Given the description of an element on the screen output the (x, y) to click on. 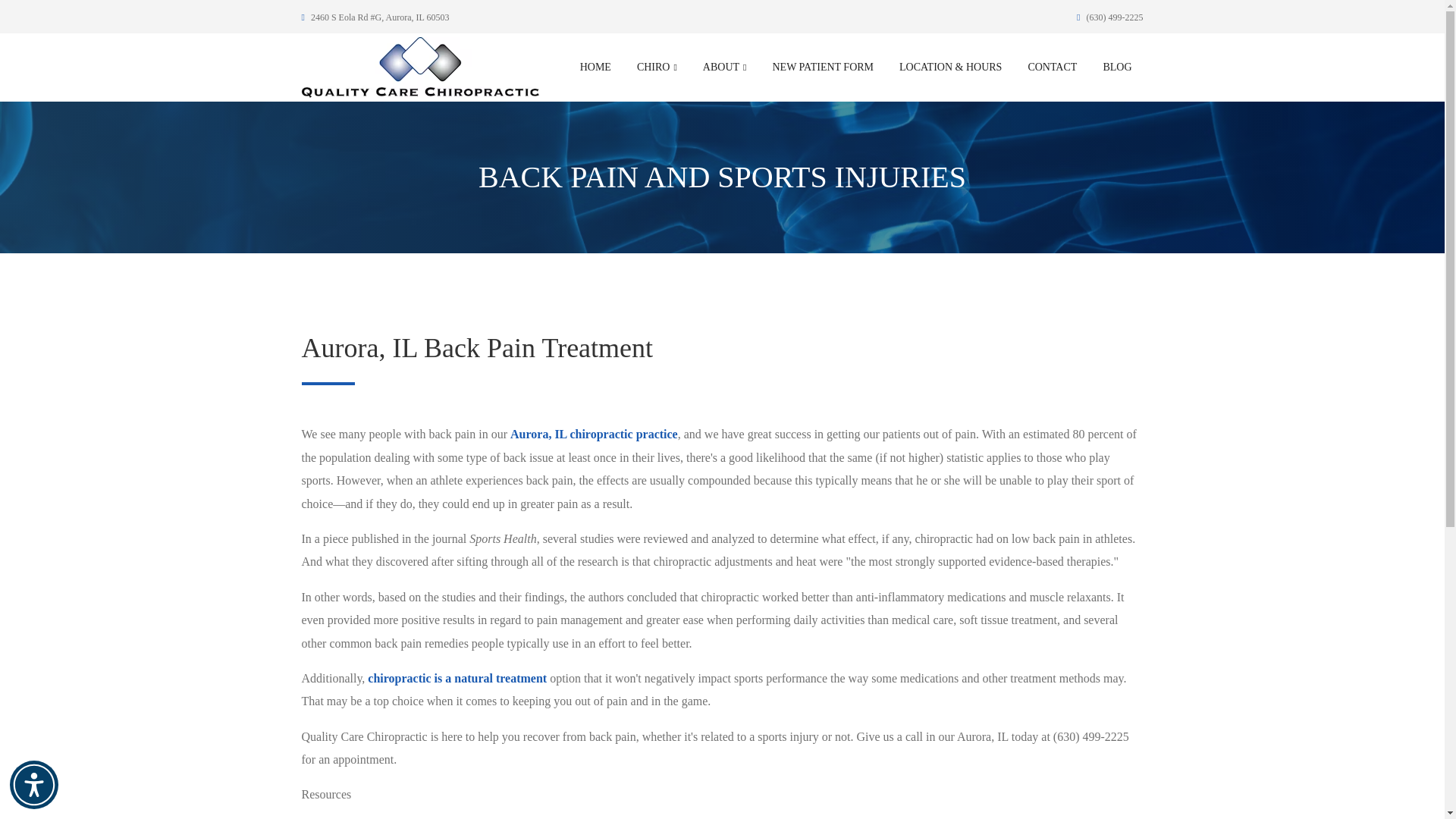
Accessibility Menu (34, 784)
Chiropractor Aurora, IL 60503 (594, 433)
CHIRO (657, 67)
HOME (596, 67)
